Given the description of an element on the screen output the (x, y) to click on. 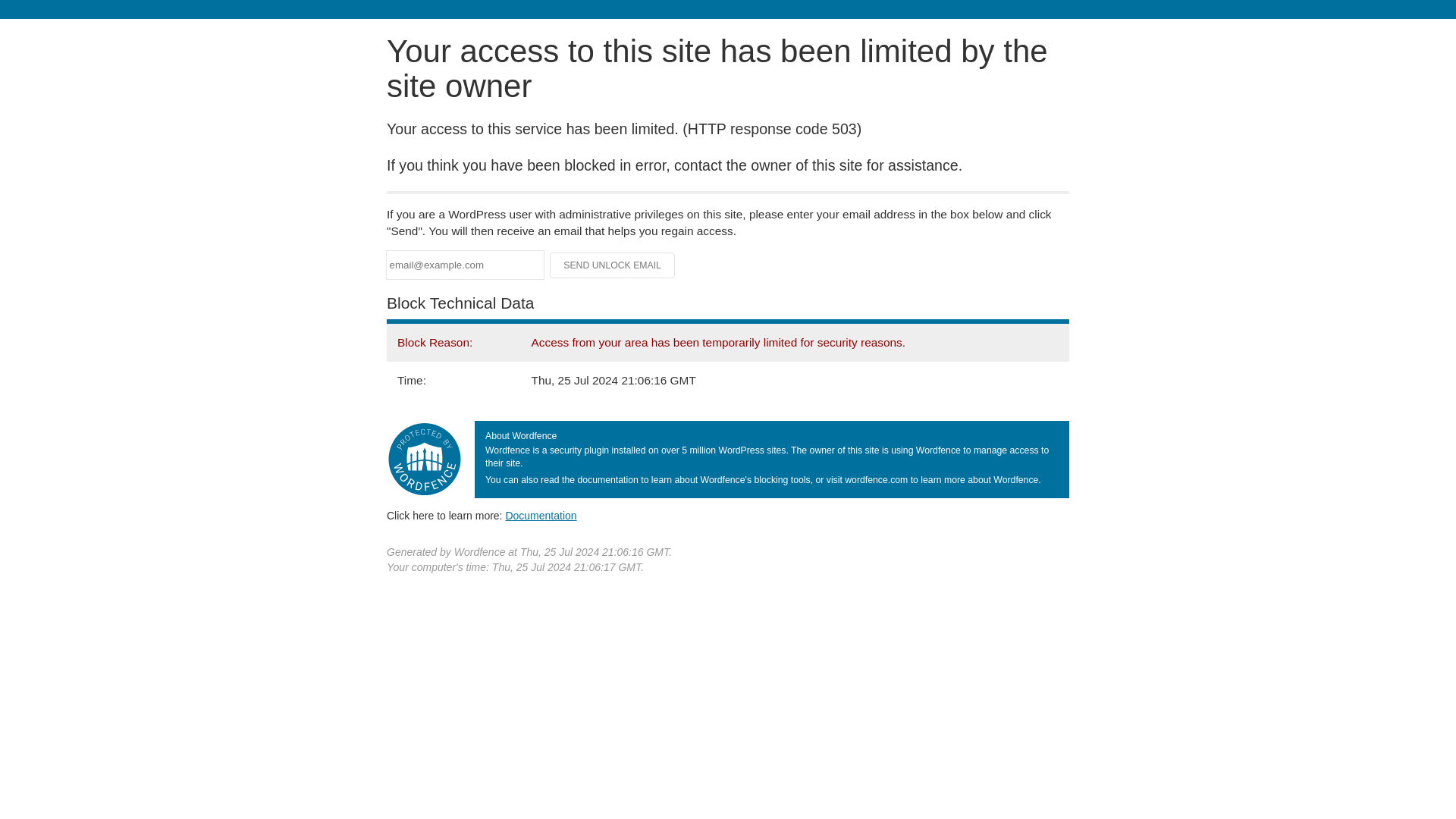
Send Unlock Email (612, 265)
Documentation (540, 515)
Send Unlock Email (612, 265)
